Given the description of an element on the screen output the (x, y) to click on. 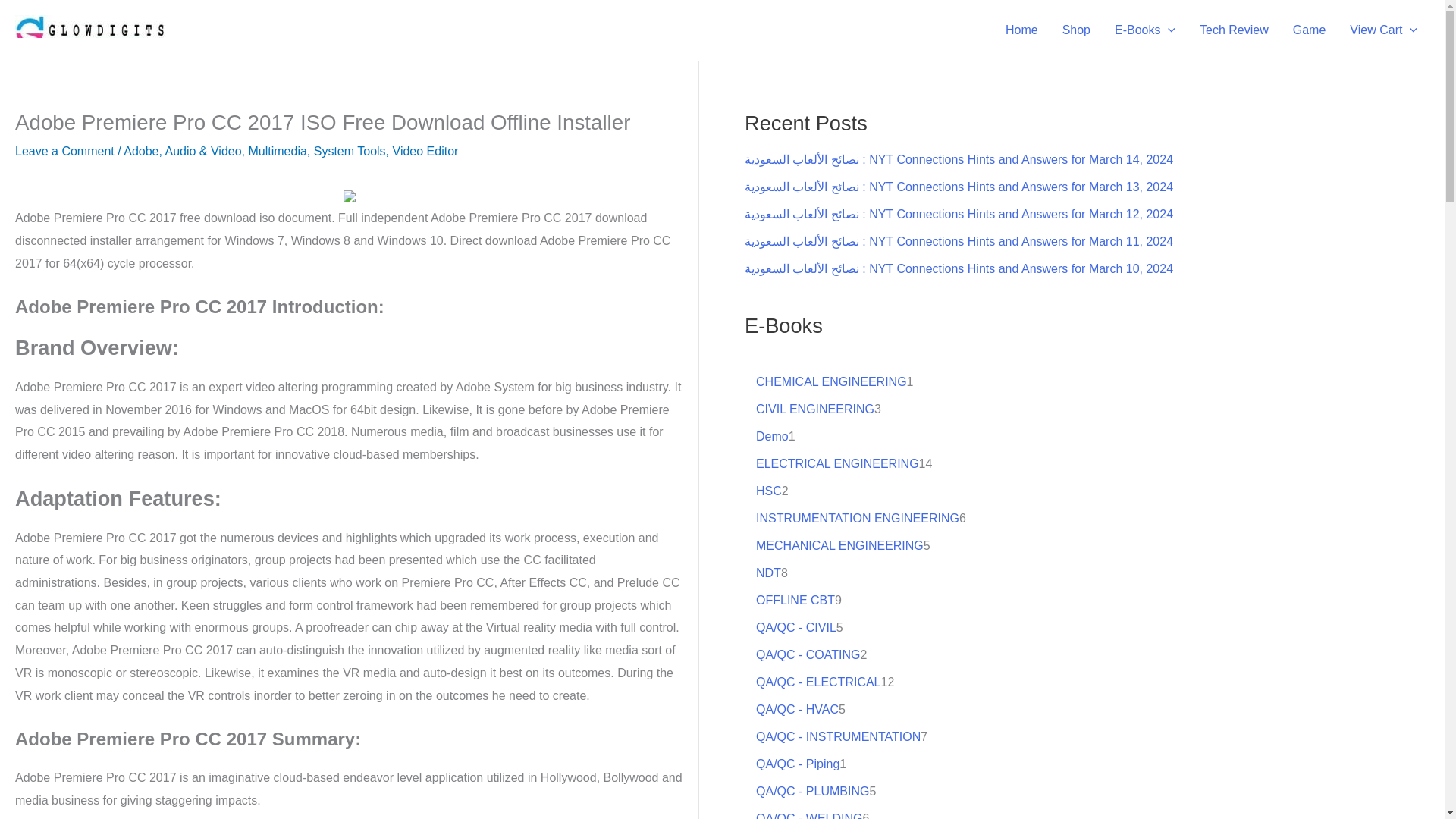
Home (1020, 30)
E-Books (1145, 30)
View Cart (1383, 30)
Game (1309, 30)
Tech Review (1234, 30)
